Given the description of an element on the screen output the (x, y) to click on. 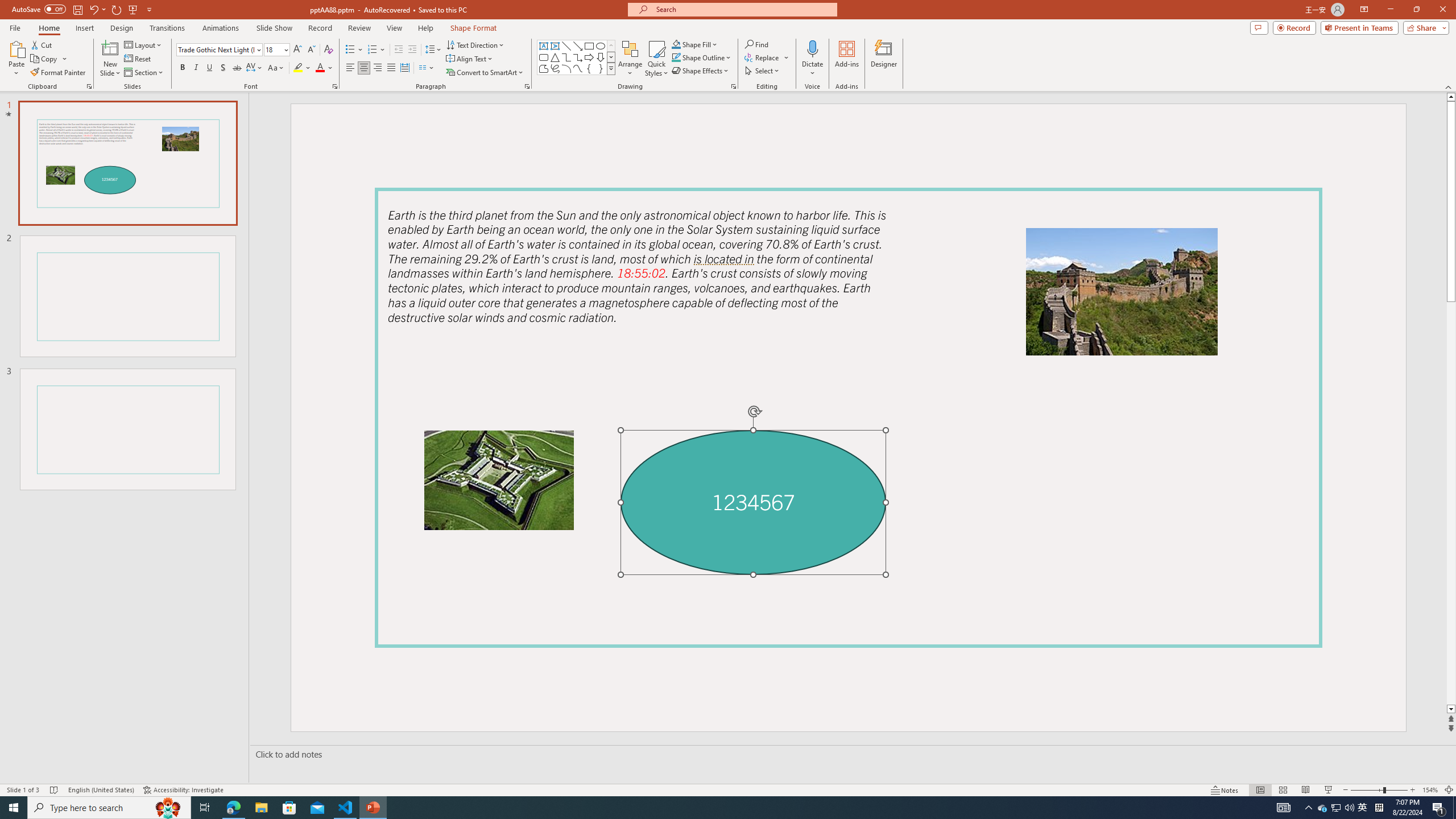
Shape Outline Teal, Accent 1 (675, 56)
